Given the description of an element on the screen output the (x, y) to click on. 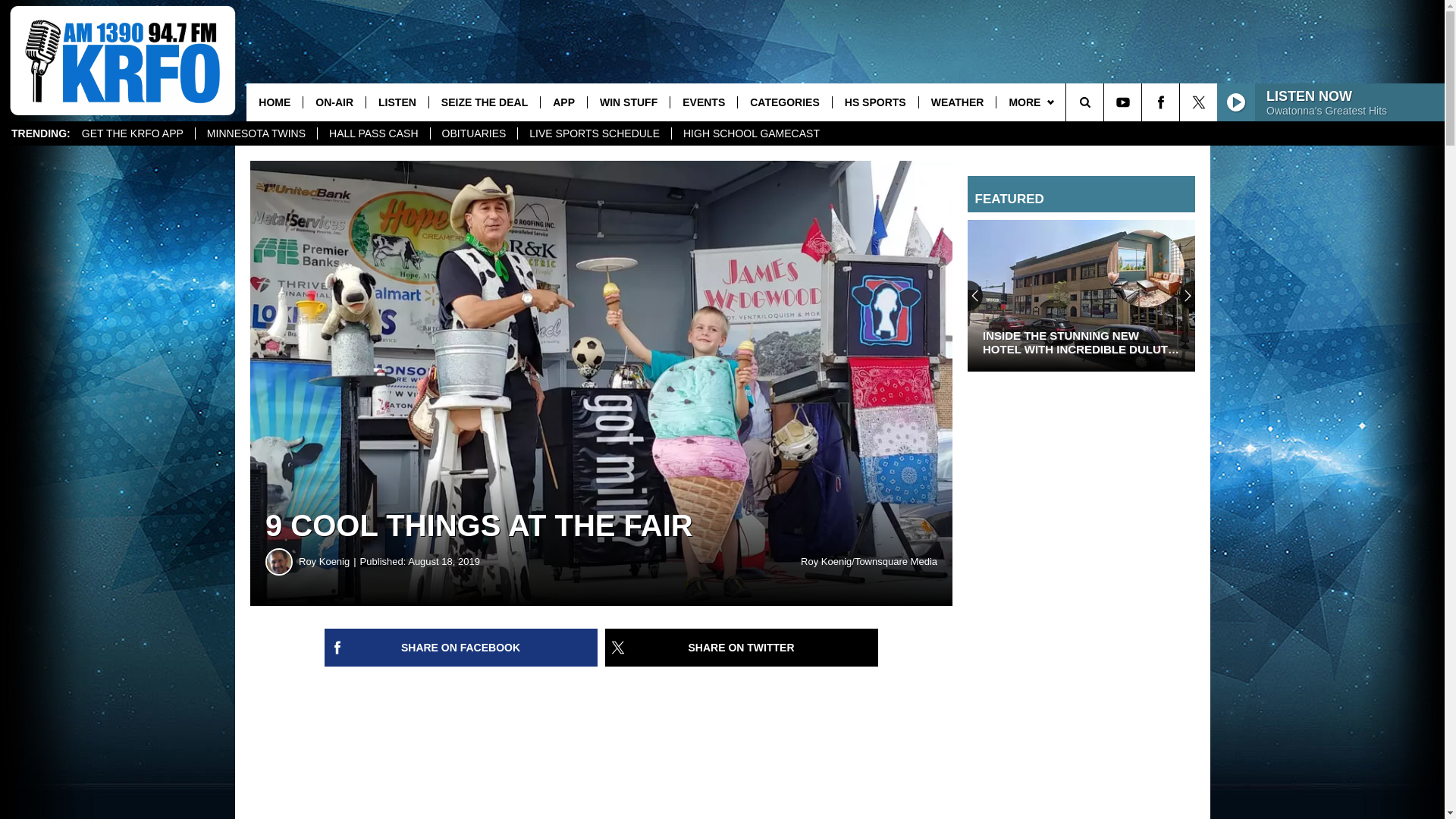
LIVE SPORTS SCHEDULE (593, 133)
ON-AIR (333, 102)
HS SPORTS (874, 102)
SEIZE THE DEAL (484, 102)
GET THE KRFO APP (132, 133)
LISTEN (396, 102)
Share on Twitter (741, 647)
Share on Facebook (460, 647)
SEARCH (1106, 102)
SEARCH (1106, 102)
